Given the description of an element on the screen output the (x, y) to click on. 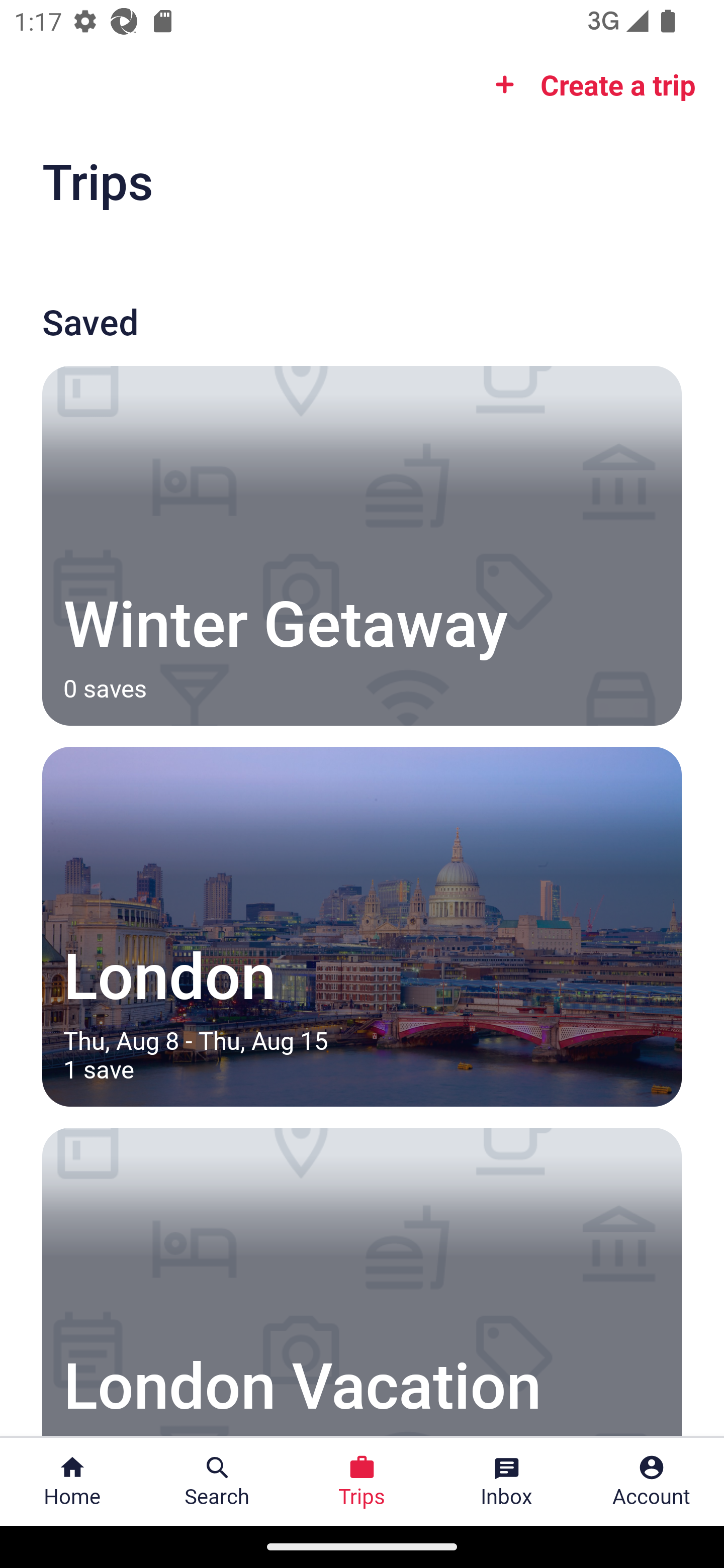
Create a trip Create a trip Button (589, 84)
Home Home Button (72, 1481)
Search Search Button (216, 1481)
Inbox Inbox Button (506, 1481)
Account Profile. Button (651, 1481)
